Given the description of an element on the screen output the (x, y) to click on. 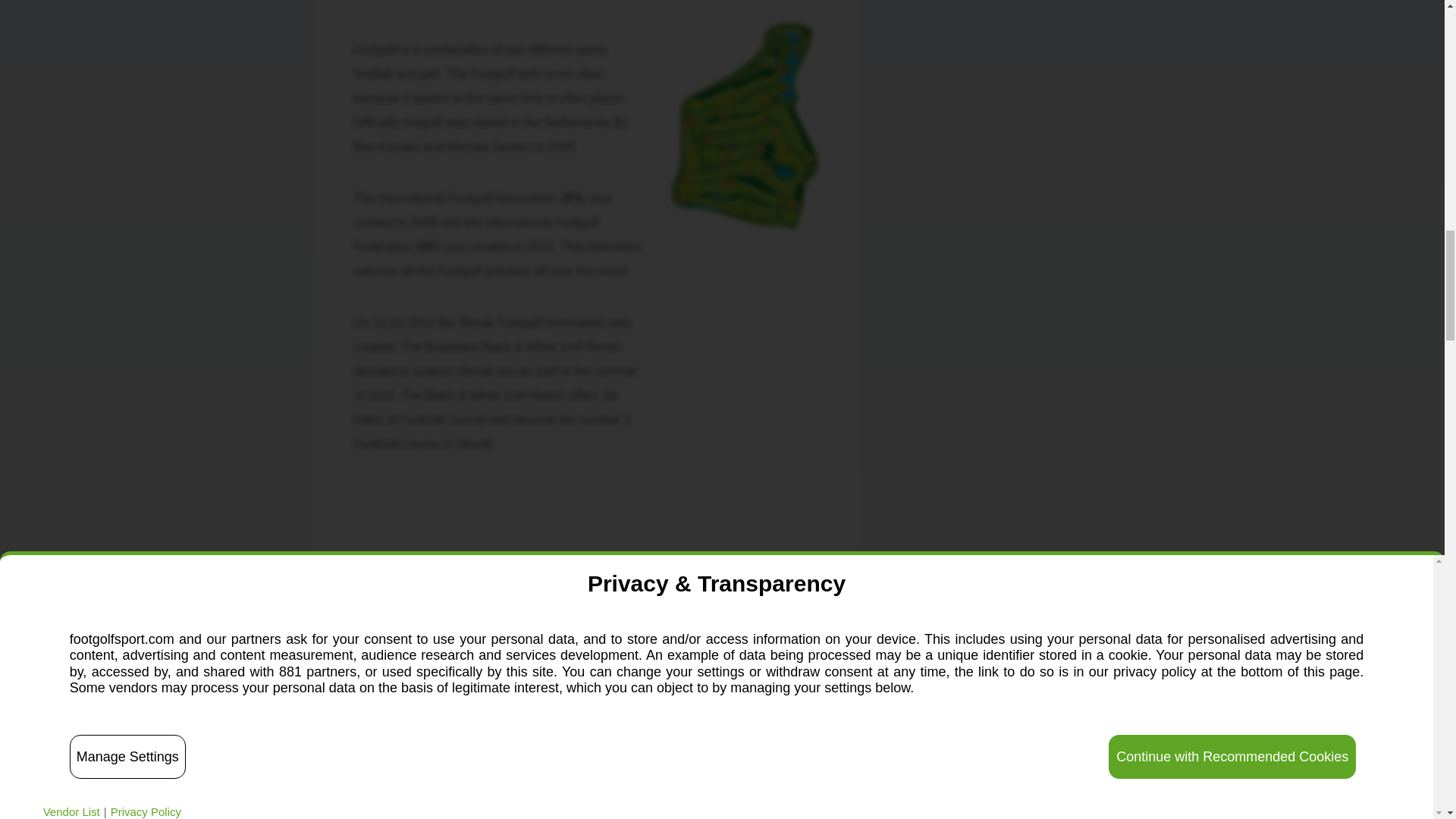
FootGolf Slovakia - PROMO VIDEO (584, 602)
